Given the description of an element on the screen output the (x, y) to click on. 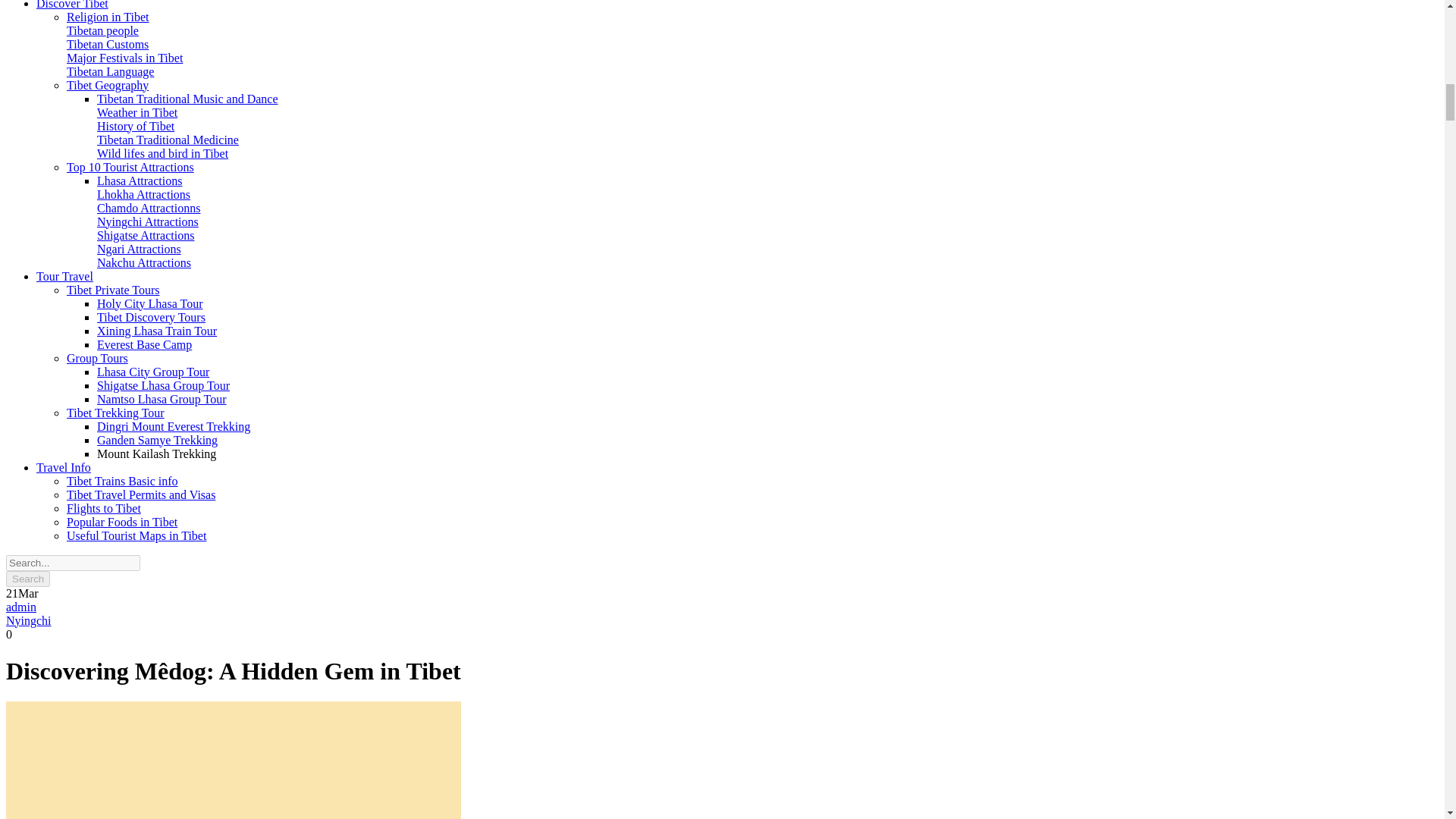
Tibetan Traditional Music and Dance (187, 98)
Tibetan people (102, 30)
History of Tibet (135, 125)
Tibetan Traditional Music and Dance (187, 98)
Search (27, 578)
Popular Attractions in Tibet (139, 180)
Tibet Geography (107, 84)
Top Attractions in Chamdo (148, 207)
Tibetan Traditional Medicine (167, 139)
Tibetan Language (110, 71)
Religion in Tibet (107, 16)
Tibetan Language (110, 71)
History of Tibet (135, 125)
Weather in Tibet (137, 112)
Tibetan Traditional Medicine (167, 139)
